Given the description of an element on the screen output the (x, y) to click on. 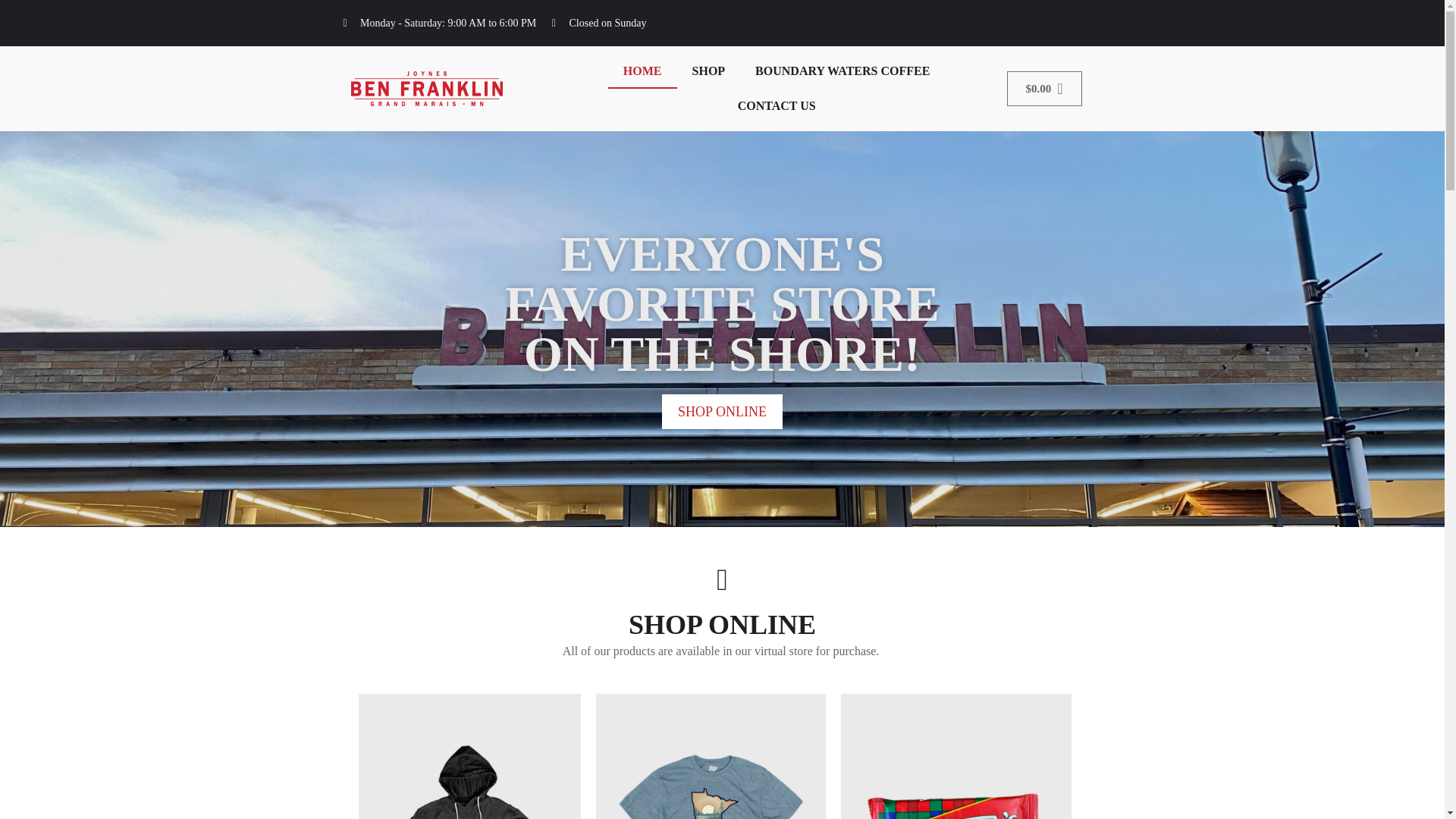
Monday - Saturday: 9:00 AM to 6:00 PM (446, 23)
BOUNDARY WATERS COFFEE (841, 71)
HOME (642, 71)
CONTACT US (776, 105)
Closed on Sunday (646, 23)
SHOP ONLINE (722, 411)
SHOP (709, 71)
